Given the description of an element on the screen output the (x, y) to click on. 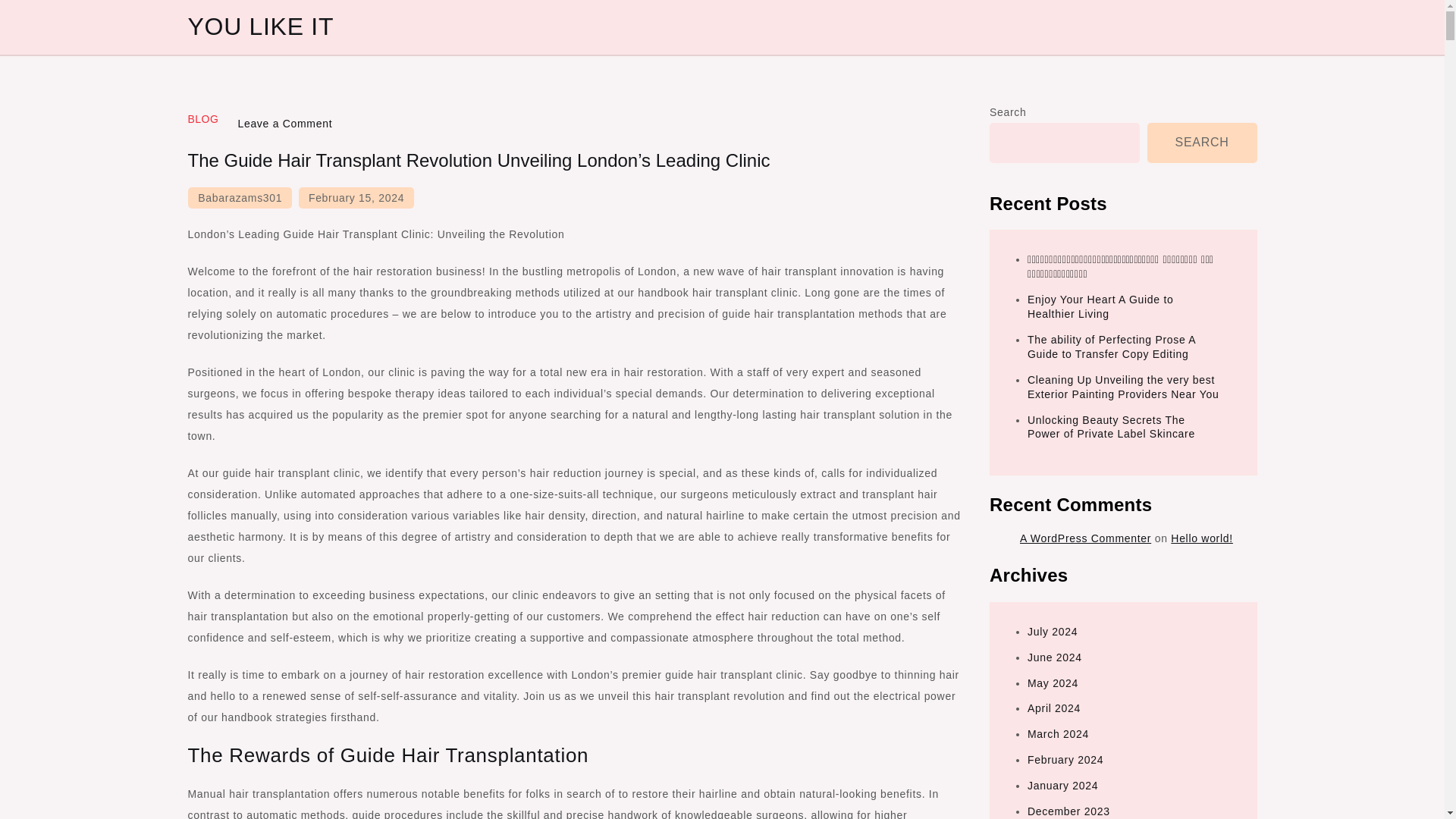
June 2024 (1054, 657)
Hello world! (1201, 538)
A WordPress Commenter (1085, 538)
Enjoy Your Heart A Guide to Healthier Living (1100, 306)
February 15, 2024 (355, 197)
December 2023 (1068, 811)
SEARCH (1202, 142)
July 2024 (1052, 631)
Babarazams301 (239, 197)
February 2024 (1065, 759)
April 2024 (1053, 707)
YOU LIKE IT (260, 26)
May 2024 (1052, 683)
